Given the description of an element on the screen output the (x, y) to click on. 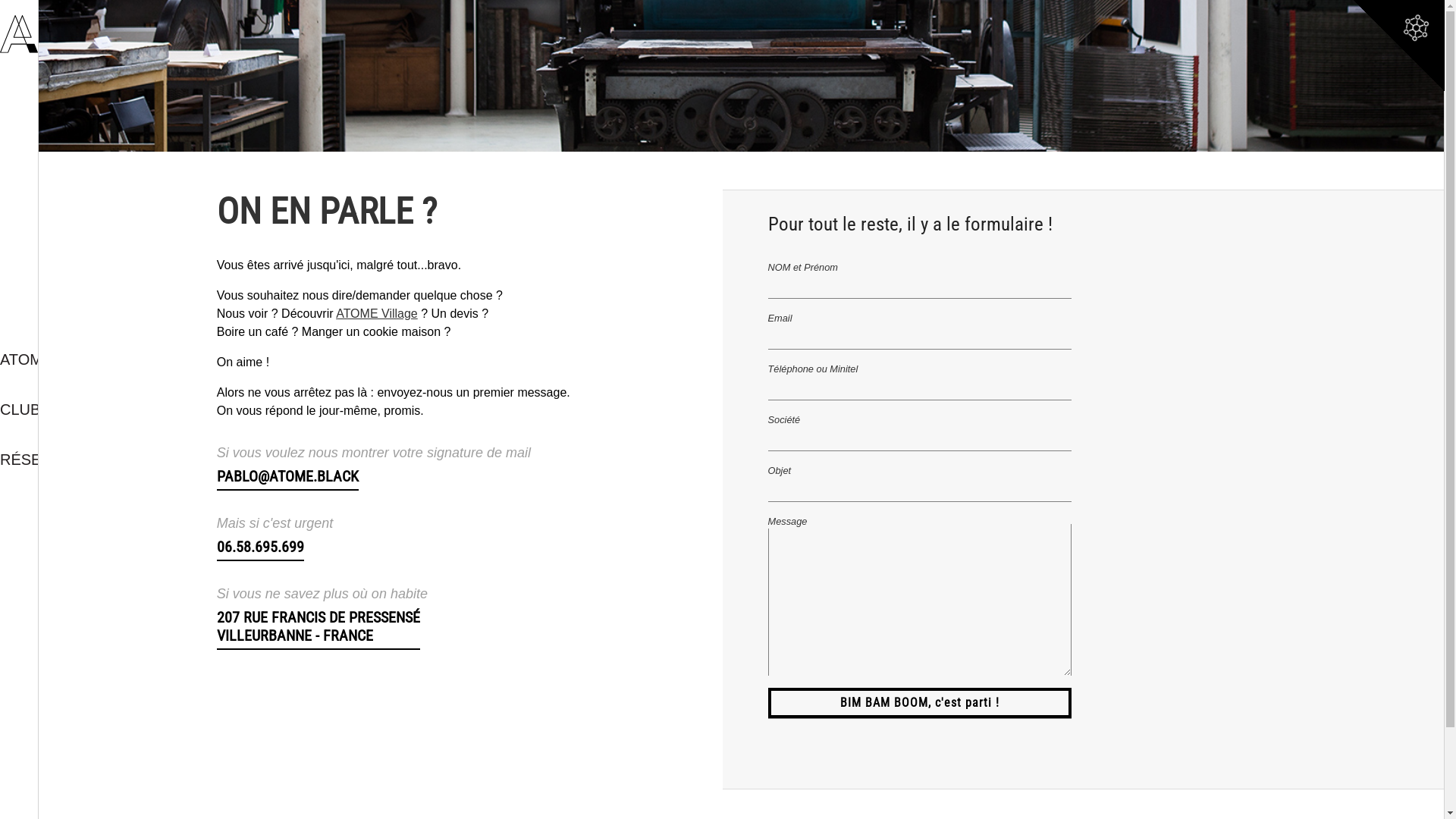
BIM BAM BOOM, c'est parti ! Element type: text (918, 702)
ATOME Element type: text (18, 359)
ATOME Village Element type: text (376, 313)
CLUB Element type: text (18, 409)
